Given the description of an element on the screen output the (x, y) to click on. 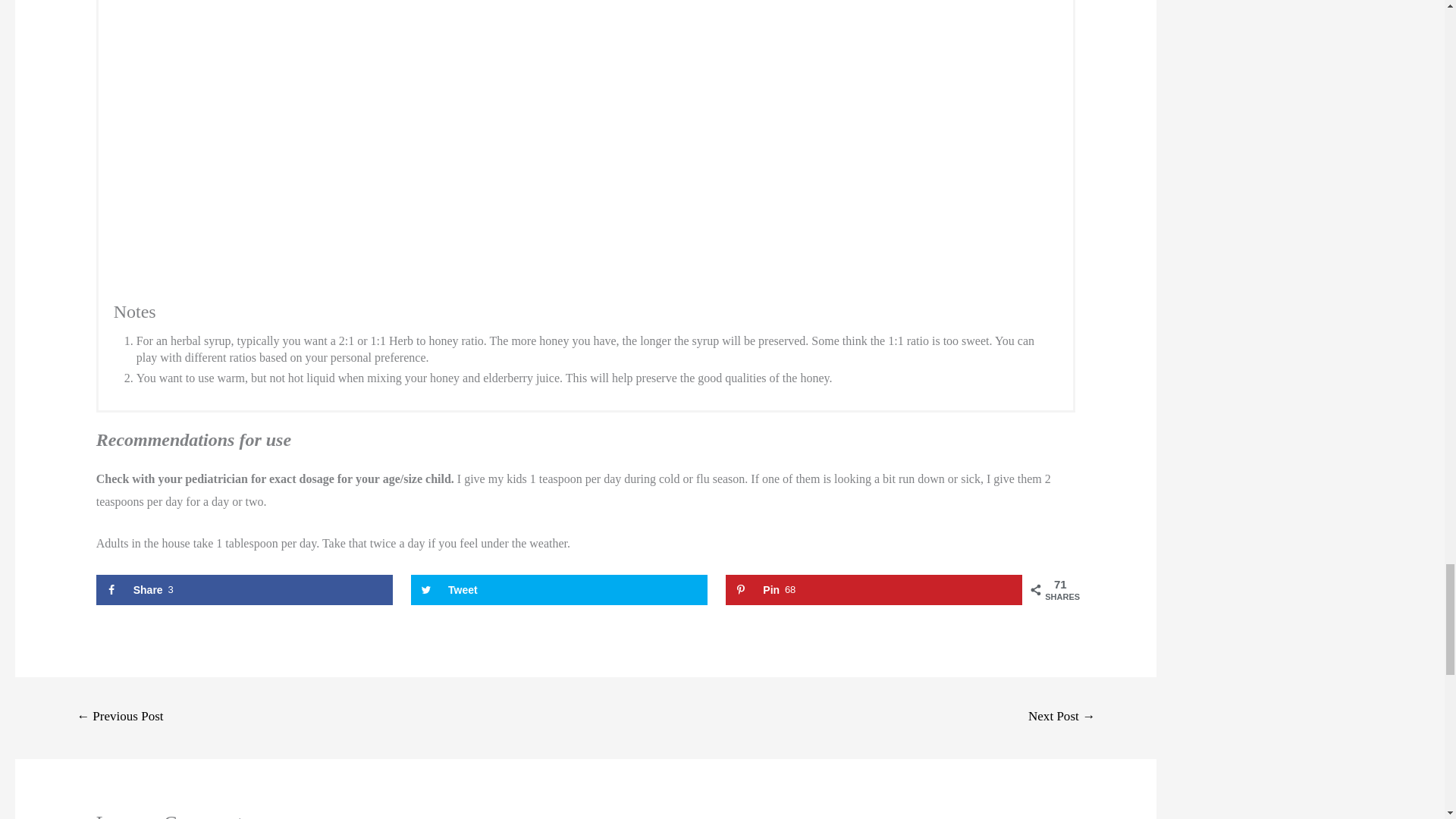
Save to Pinterest (873, 589)
Tweet (873, 589)
Share on Facebook (558, 589)
Share on Twitter (244, 589)
